Given the description of an element on the screen output the (x, y) to click on. 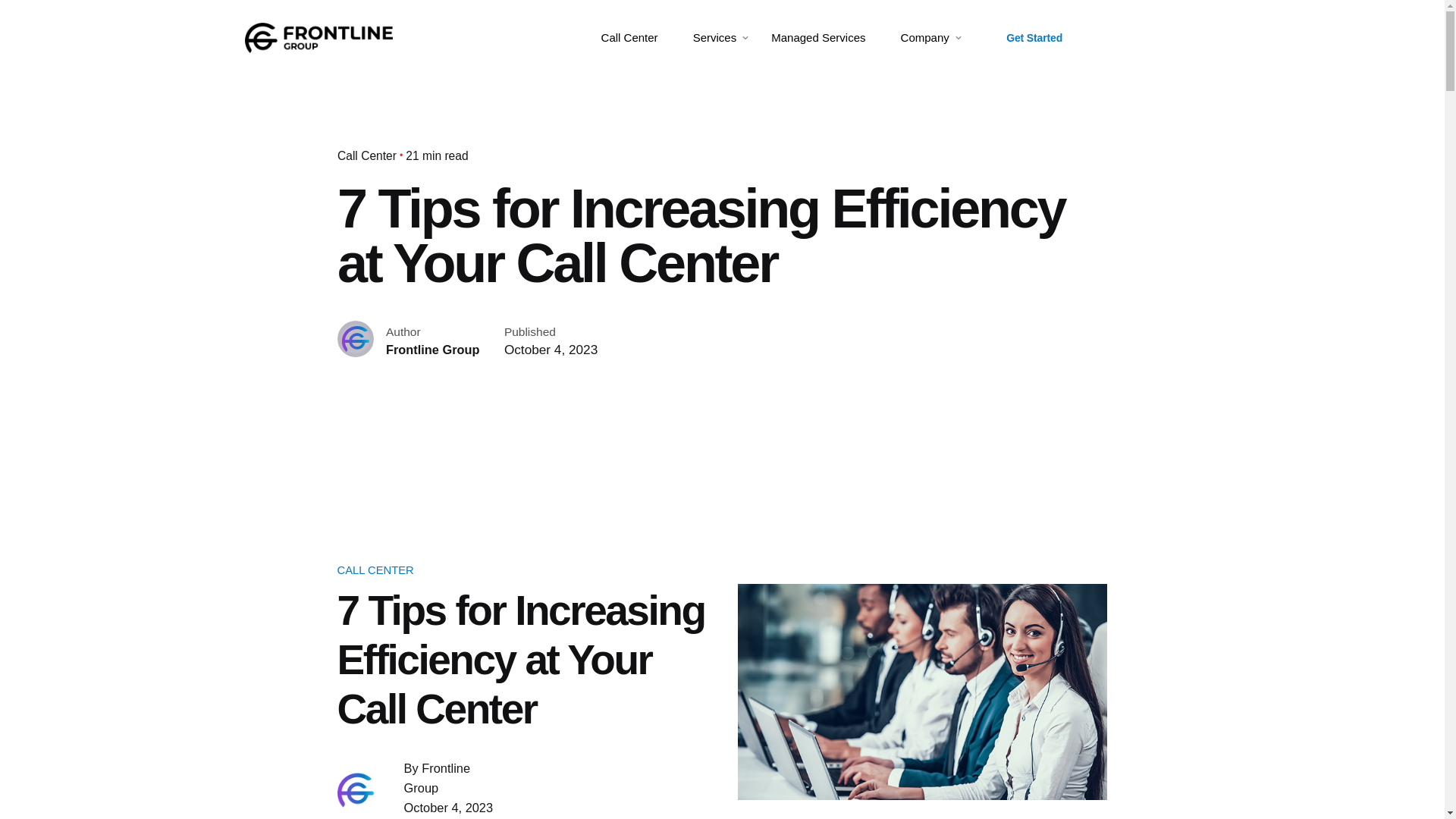
Company (924, 37)
Get Started (1034, 37)
Managed Services (818, 37)
Call Center (366, 155)
Call Center (629, 37)
Become an Agent (1144, 37)
Services (714, 37)
cropped-Favicon.png (355, 790)
7 tips for increasing efficiency at your call center (921, 691)
